Given the description of an element on the screen output the (x, y) to click on. 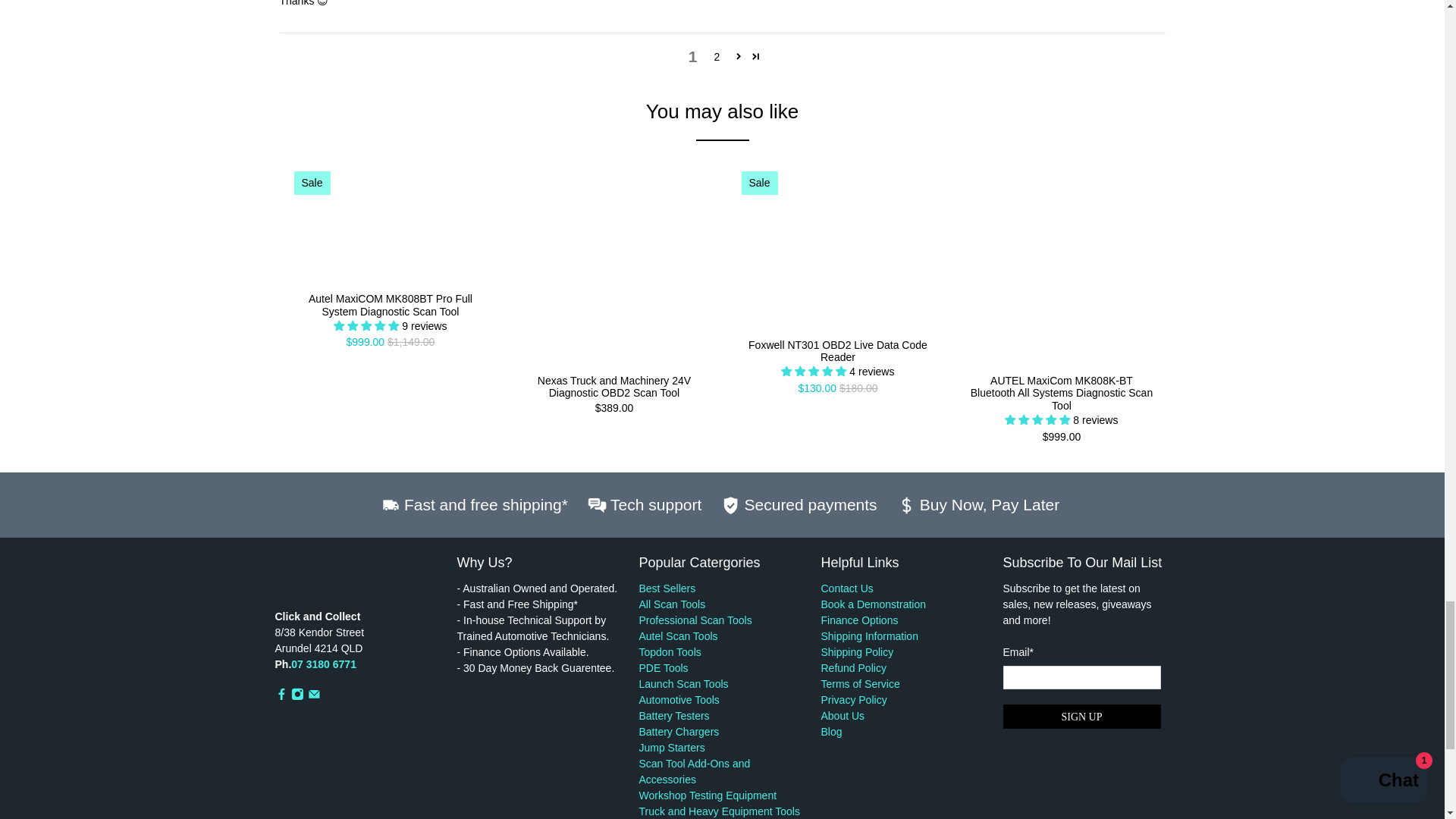
Email Premium Diagnostic Equipment (313, 695)
Premium Diagnostic Equipment (358, 580)
tel:0731806771 (323, 664)
Premium Diagnostic Equipment on Facebook (280, 695)
Premium Diagnostic Equipment on Instagram (297, 695)
